Given the description of an element on the screen output the (x, y) to click on. 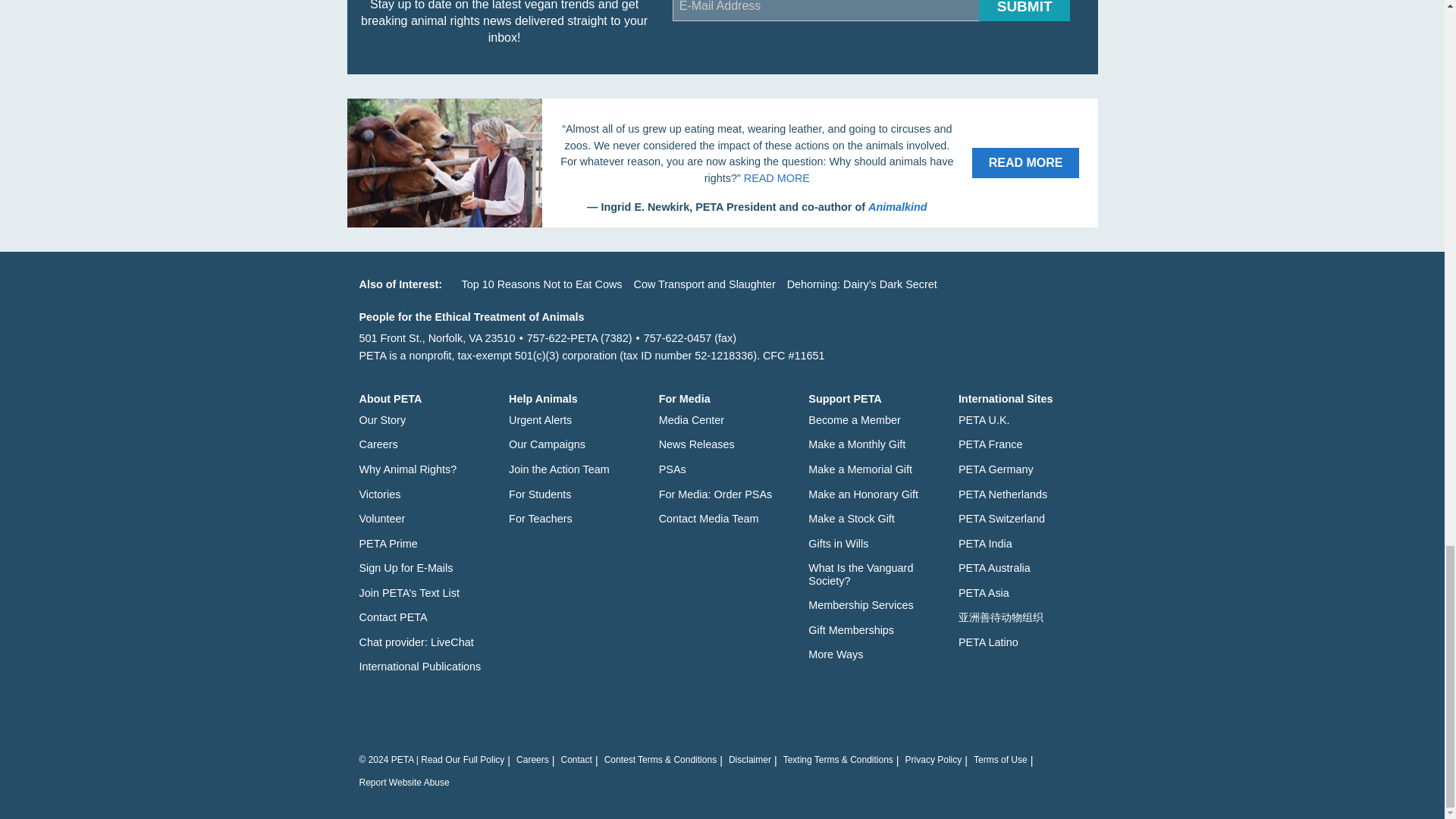
Submit (1024, 10)
